Given the description of an element on the screen output the (x, y) to click on. 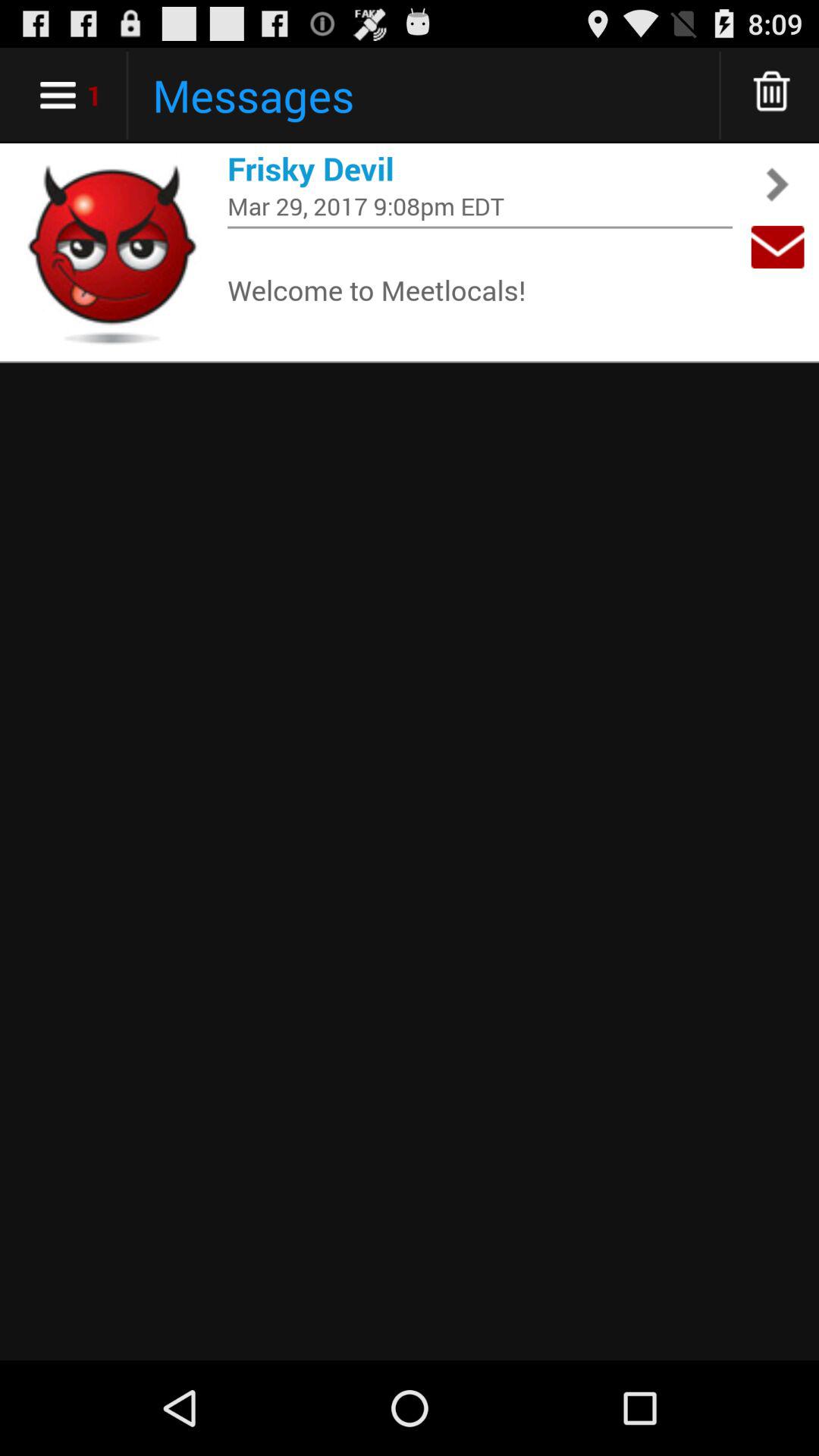
move to trash (772, 95)
